Given the description of an element on the screen output the (x, y) to click on. 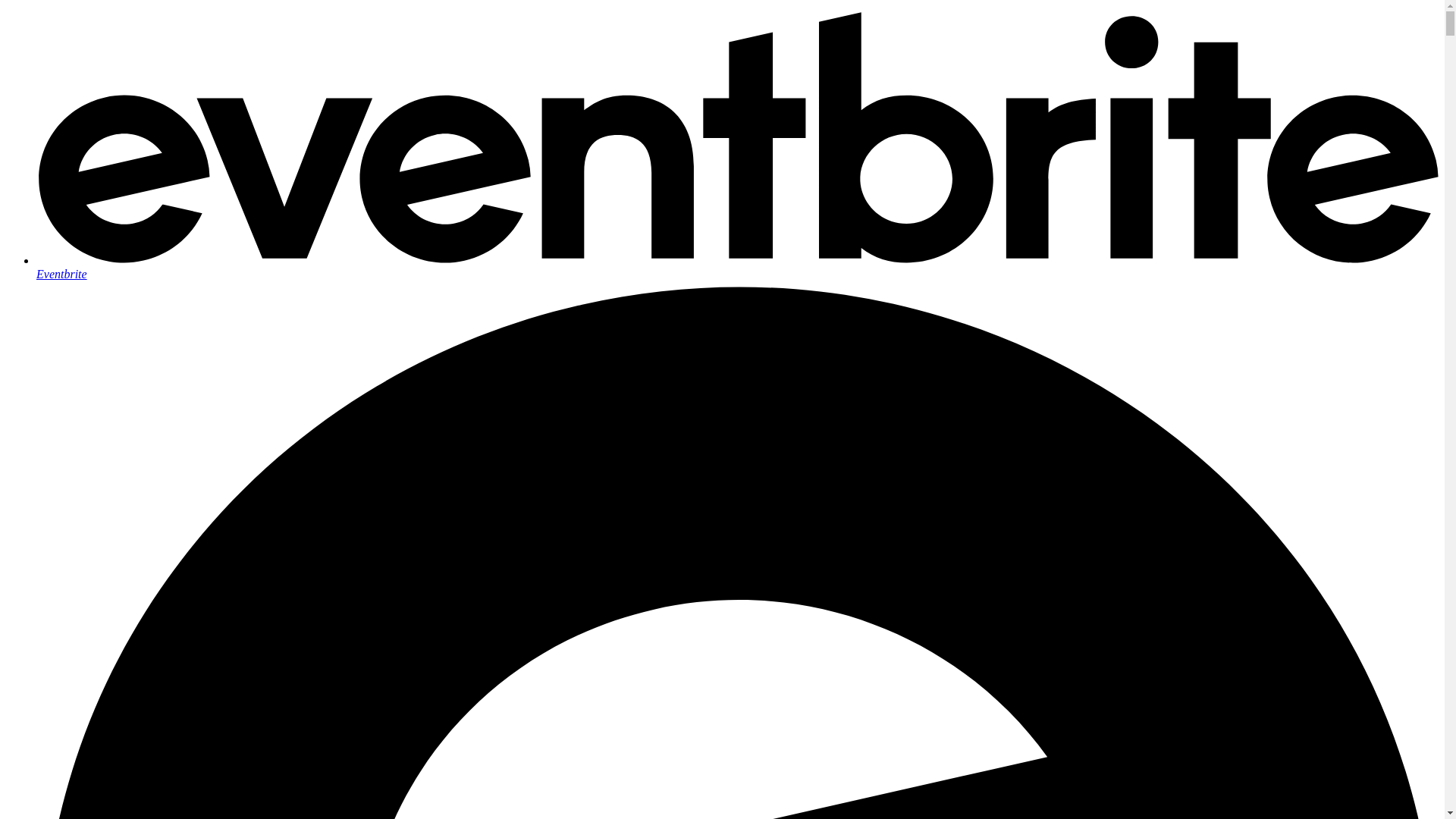
Eventbrite Element type: text (737, 267)
